Given the description of an element on the screen output the (x, y) to click on. 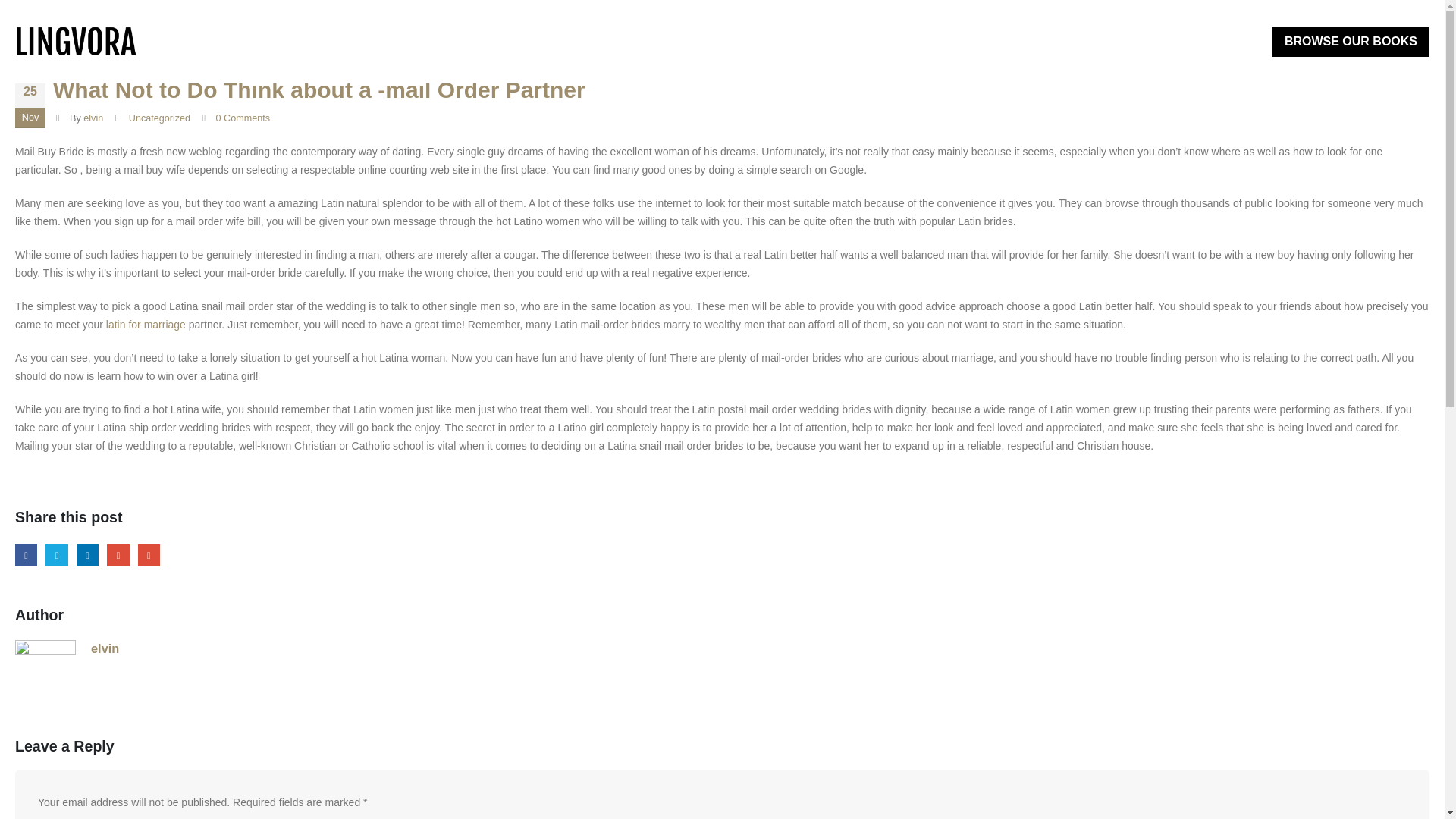
Posts by elvin (92, 118)
0 Comments (242, 118)
Go to Home Page (28, 33)
Lingvora -  (75, 41)
BROWSE OUR BOOKS (1350, 41)
Posts by elvin (104, 648)
